Given the description of an element on the screen output the (x, y) to click on. 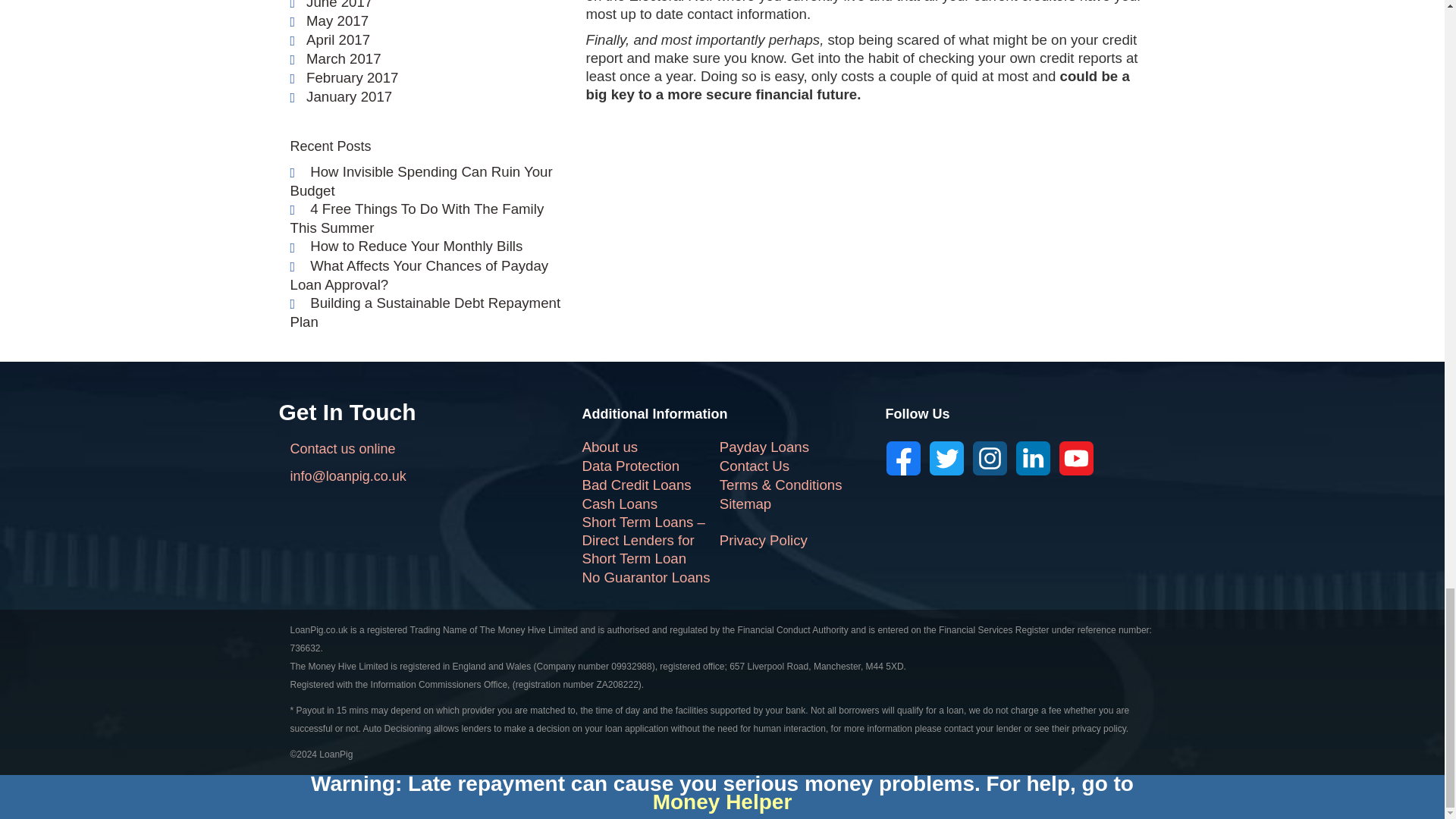
Follow us on YouTube (1076, 458)
Follow us on Twitter (946, 458)
Follow us on LinkedIn (1032, 458)
Follow us on Facebook (903, 458)
Follow us on Instagram (989, 458)
